Given the description of an element on the screen output the (x, y) to click on. 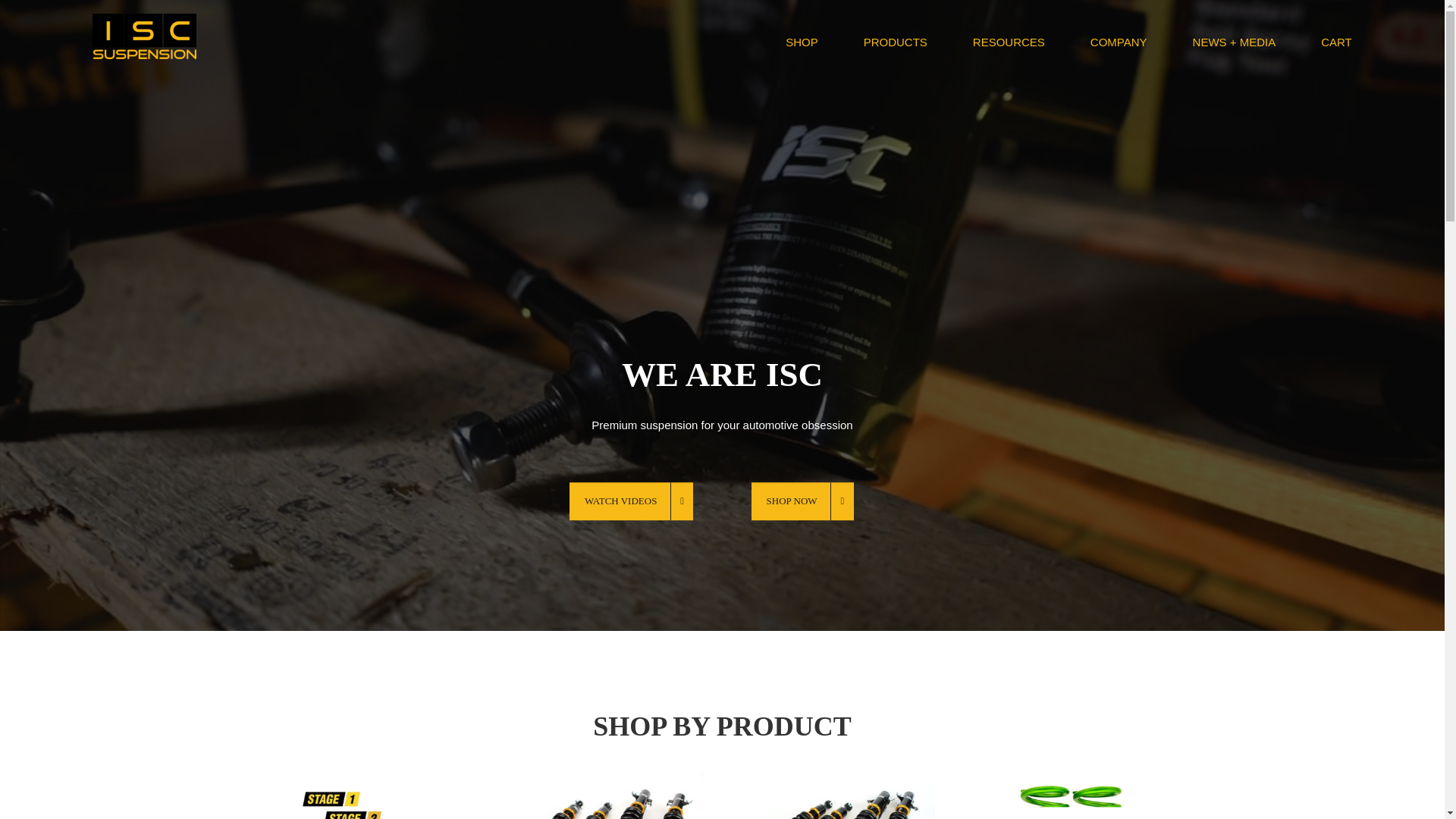
953786294 (1068, 795)
RESOURCES (1008, 41)
ISC Basic Coilovers (836, 795)
COMPANY (1118, 41)
ISC N1 Coilovers (606, 795)
PRODUCTS (895, 41)
staged packages (376, 795)
